Given the description of an element on the screen output the (x, y) to click on. 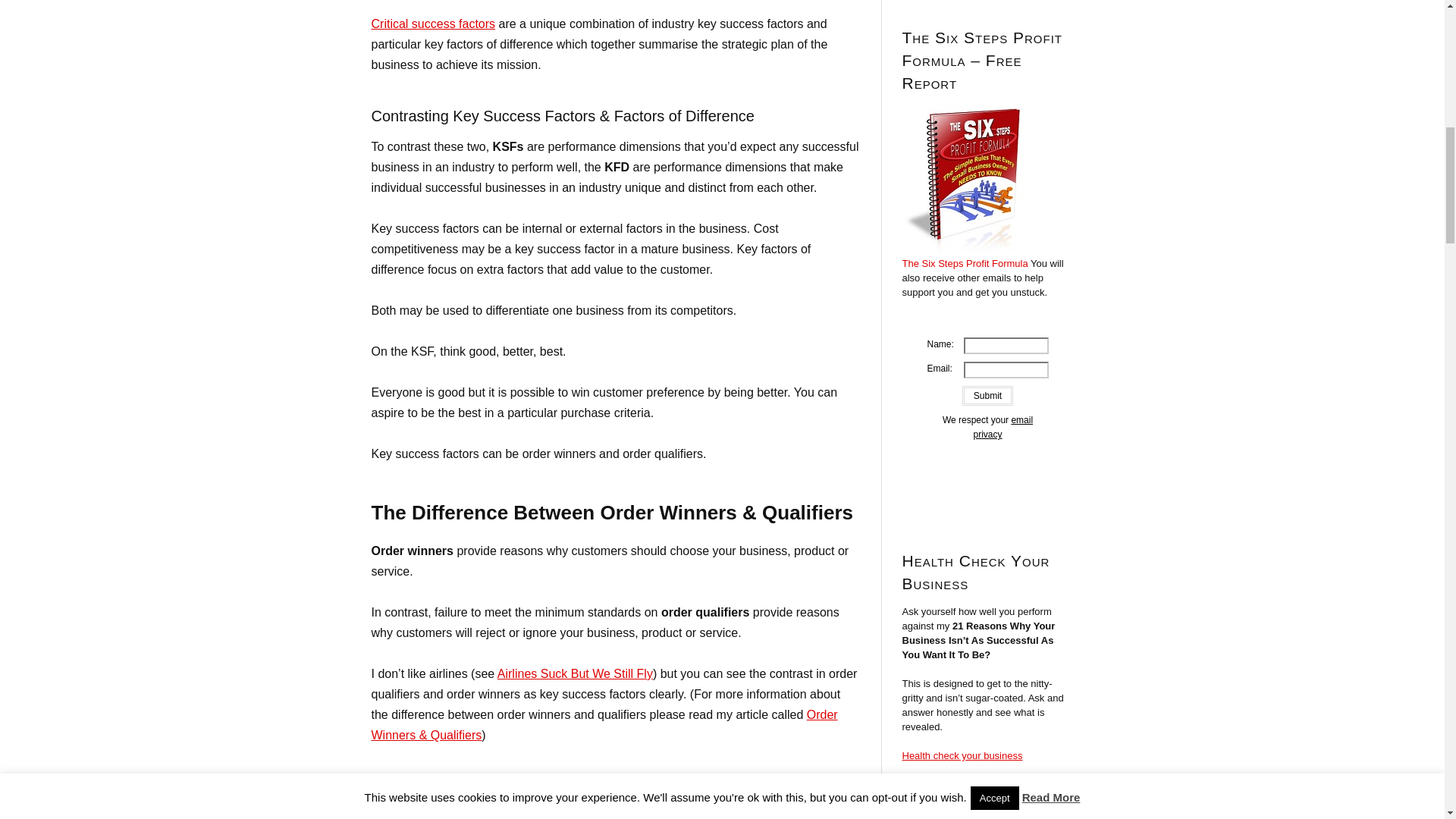
The Six Steps Profit Formula (964, 263)
Privacy Policy (1002, 426)
Submit (987, 395)
Health check your business (962, 755)
Critical success factors (433, 23)
Submit (987, 395)
Airlines Suck But We Still Fly (574, 673)
email privacy (1002, 426)
